Given the description of an element on the screen output the (x, y) to click on. 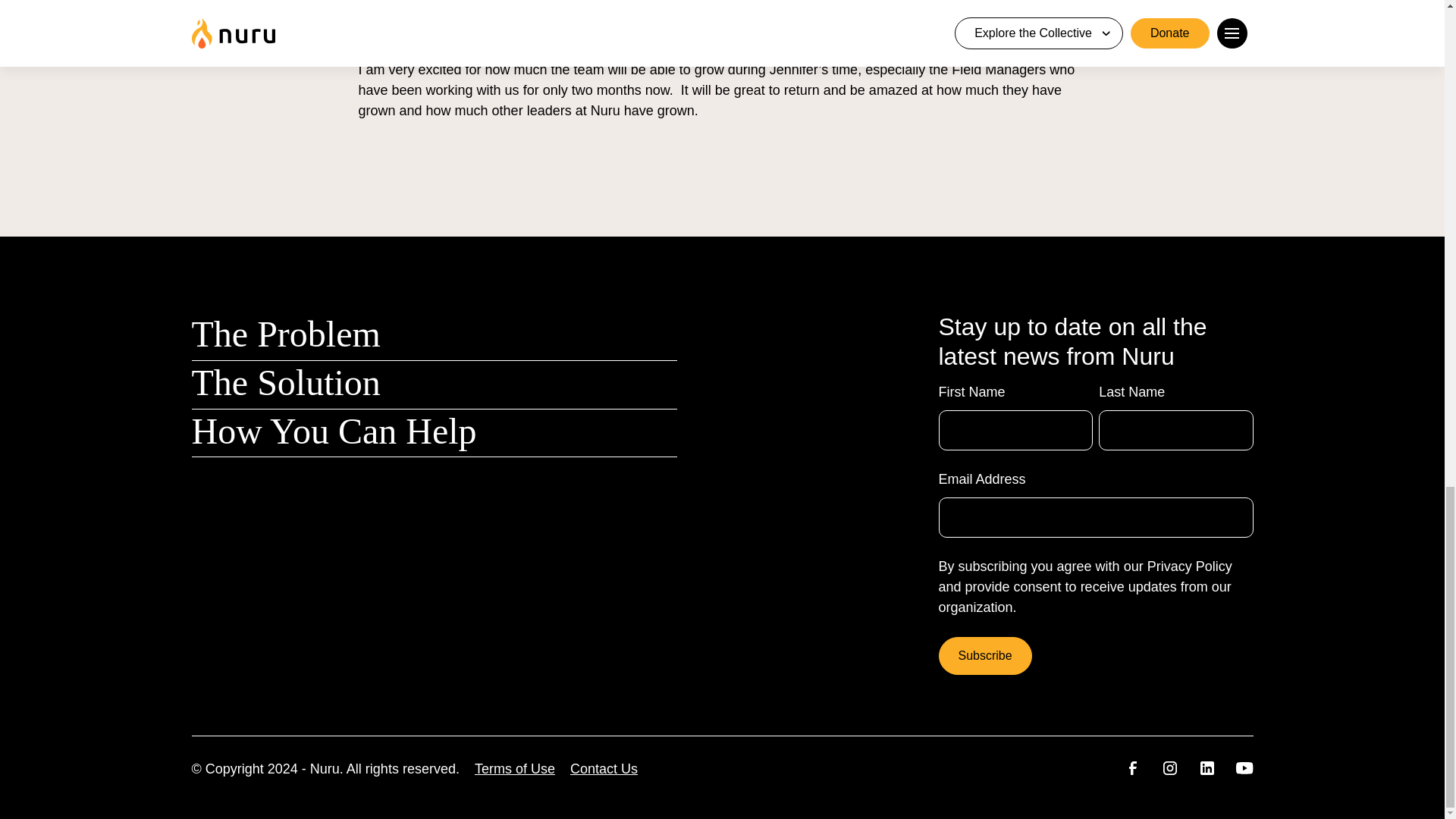
Privacy Policy (1189, 566)
How You Can Help (333, 431)
Terms of Use (514, 768)
The Solution (285, 382)
Subscribe (985, 655)
Subscribe (985, 655)
Contact Us (603, 768)
The Problem (285, 333)
